Given the description of an element on the screen output the (x, y) to click on. 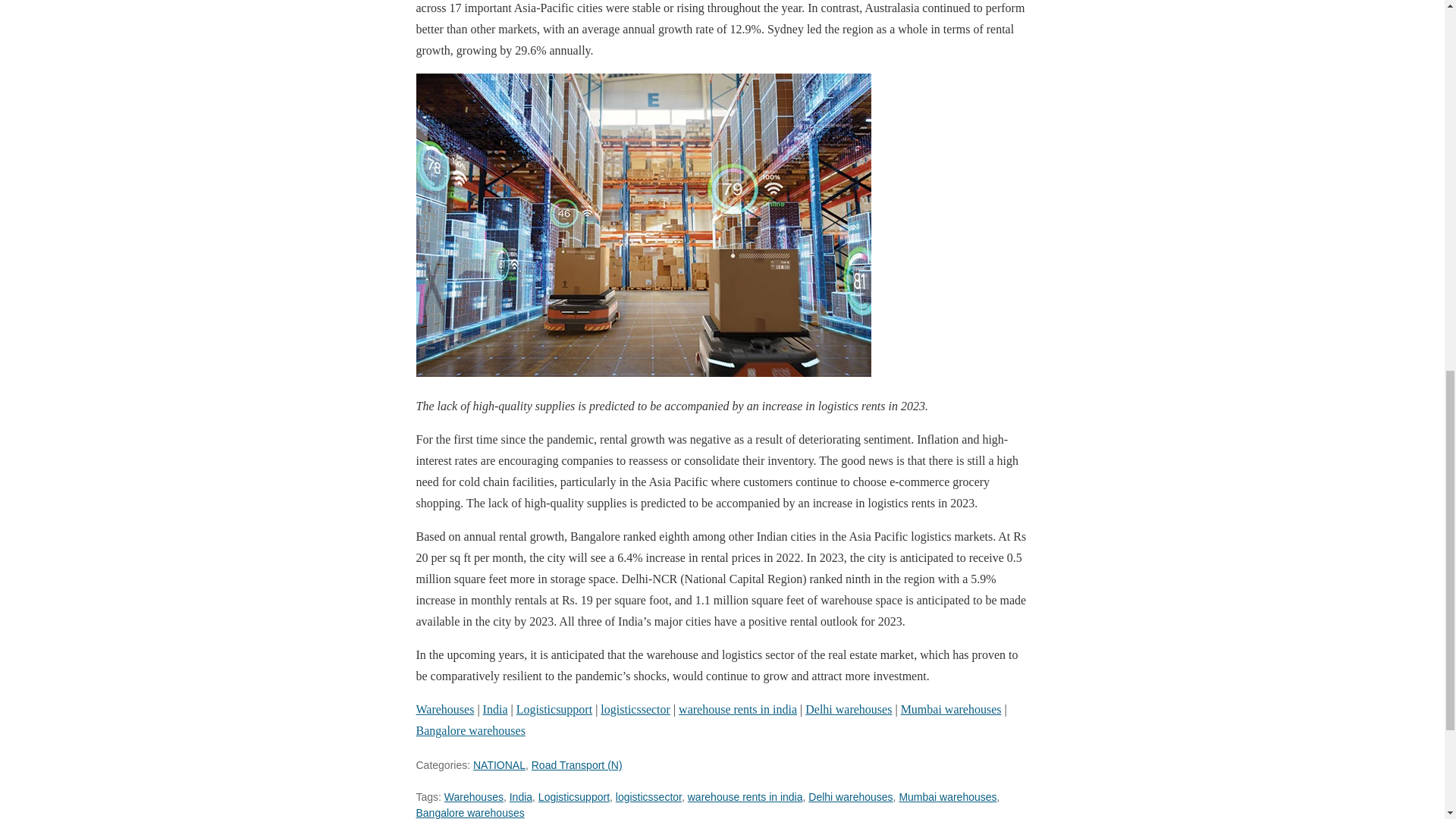
Bangalore warehouses (469, 730)
Logisticsupport (574, 797)
India (520, 797)
Delhi warehouses (850, 797)
Bangalore warehouses (469, 812)
Logisticsupport (554, 708)
Delhi warehouses (848, 708)
logisticssector (648, 797)
logisticssector (634, 708)
warehouse rents in india (745, 797)
Warehouses (473, 797)
India (495, 708)
warehouse rents in india (737, 708)
NATIONAL (499, 765)
